Given the description of an element on the screen output the (x, y) to click on. 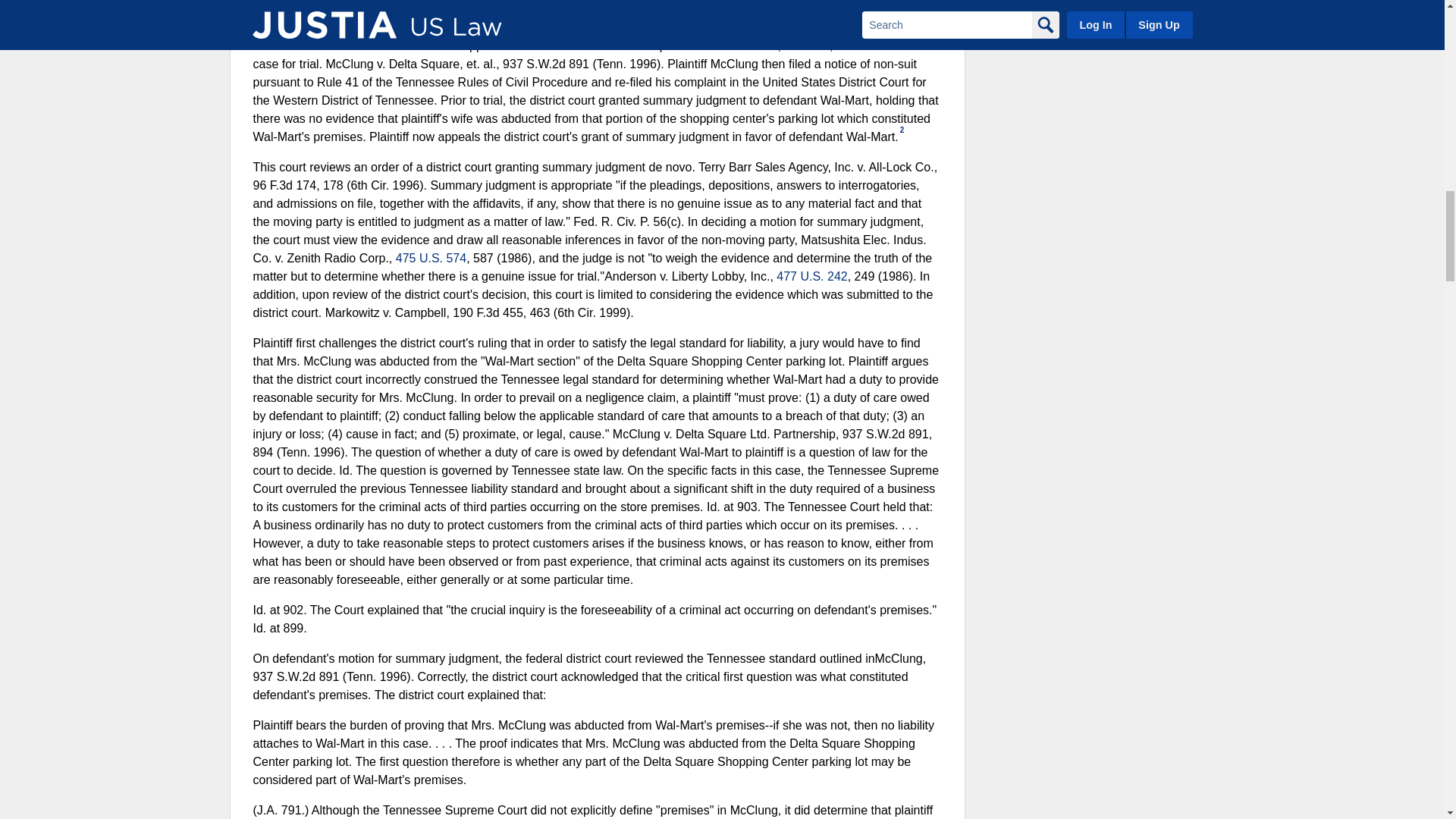
475 U.S. 574 (430, 257)
2 (901, 130)
477 U.S. 242 (811, 276)
